Given the description of an element on the screen output the (x, y) to click on. 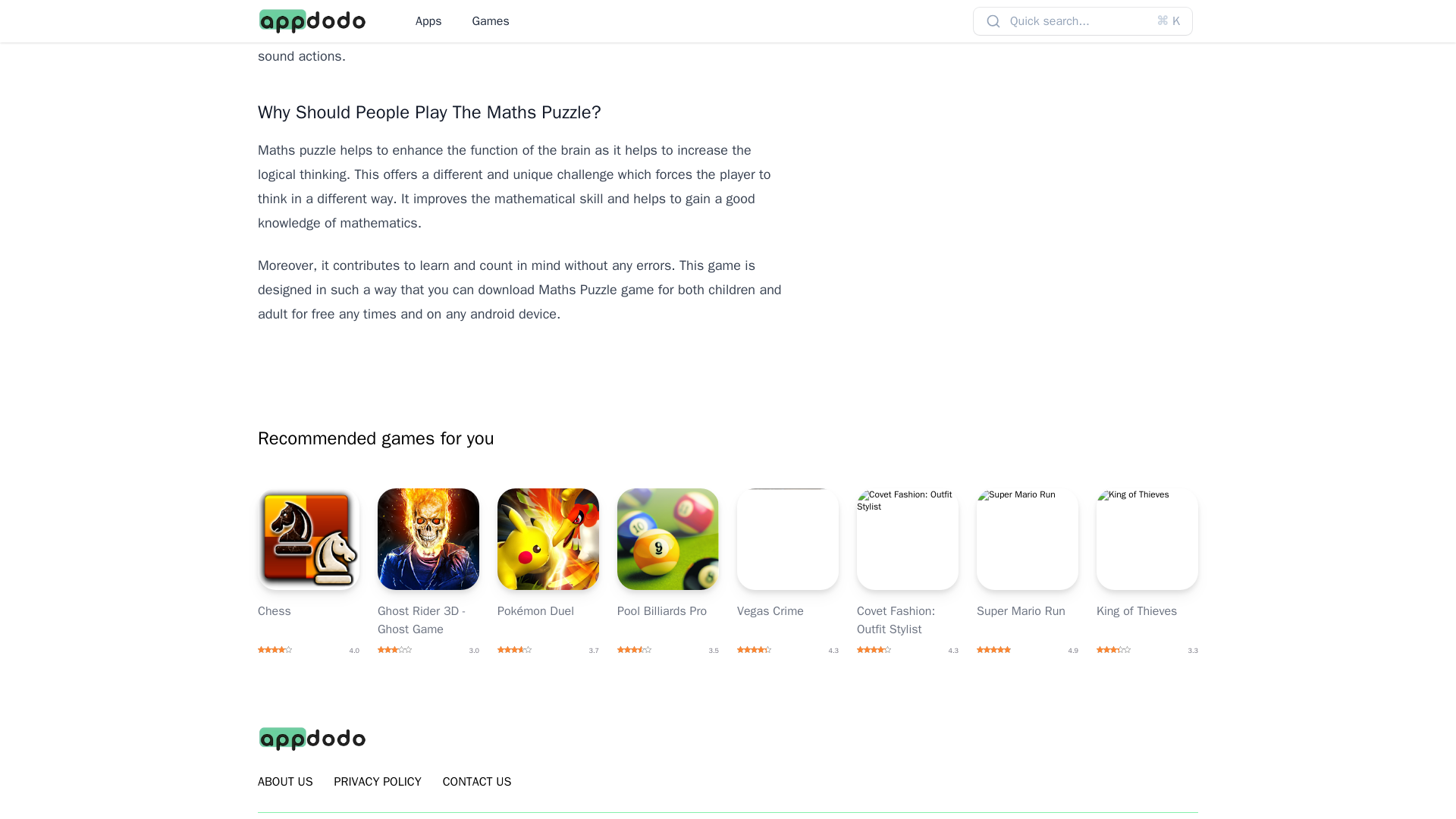
PRIVACY POLICY (378, 782)
CONTACT US (477, 782)
ABOUT US (285, 782)
